Given the description of an element on the screen output the (x, y) to click on. 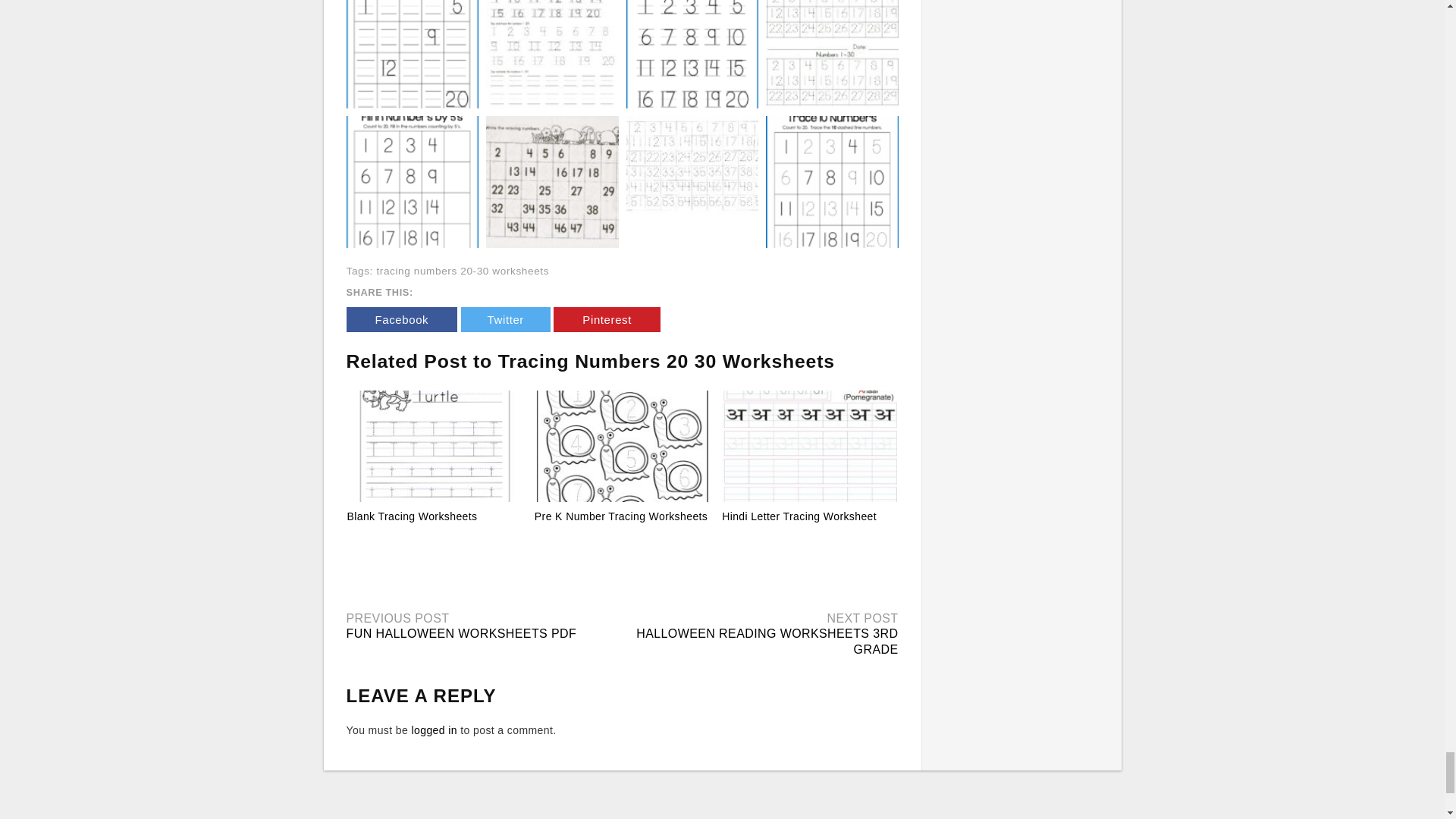
Twitter (505, 319)
tracing numbers 20-30 worksheets (461, 270)
Facebook (401, 319)
Pinterest (607, 319)
